Given the description of an element on the screen output the (x, y) to click on. 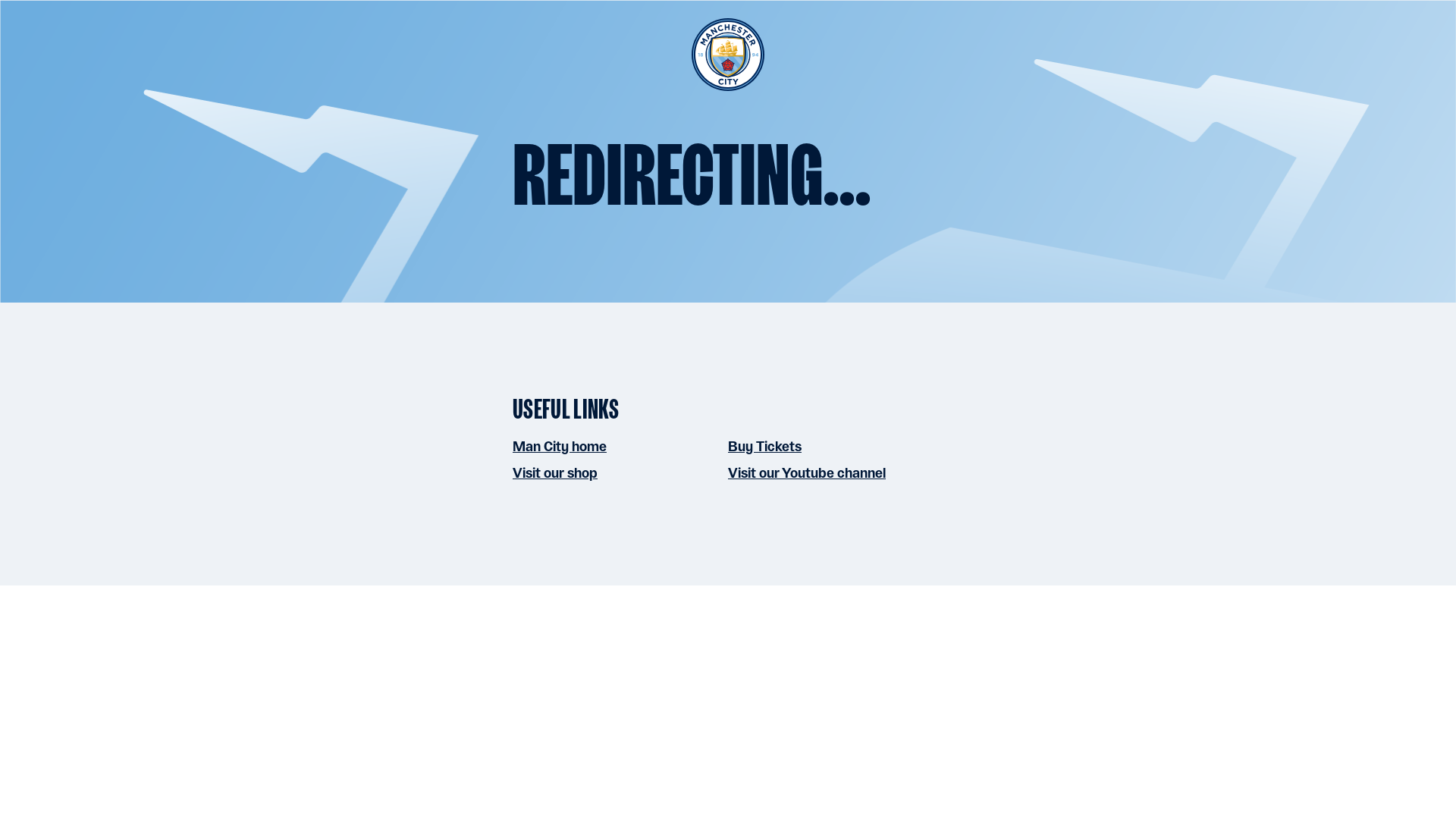
Visit our Youtube channel (806, 472)
Man City home (559, 445)
Buy Tickets (765, 445)
Visit our shop (554, 472)
